Given the description of an element on the screen output the (x, y) to click on. 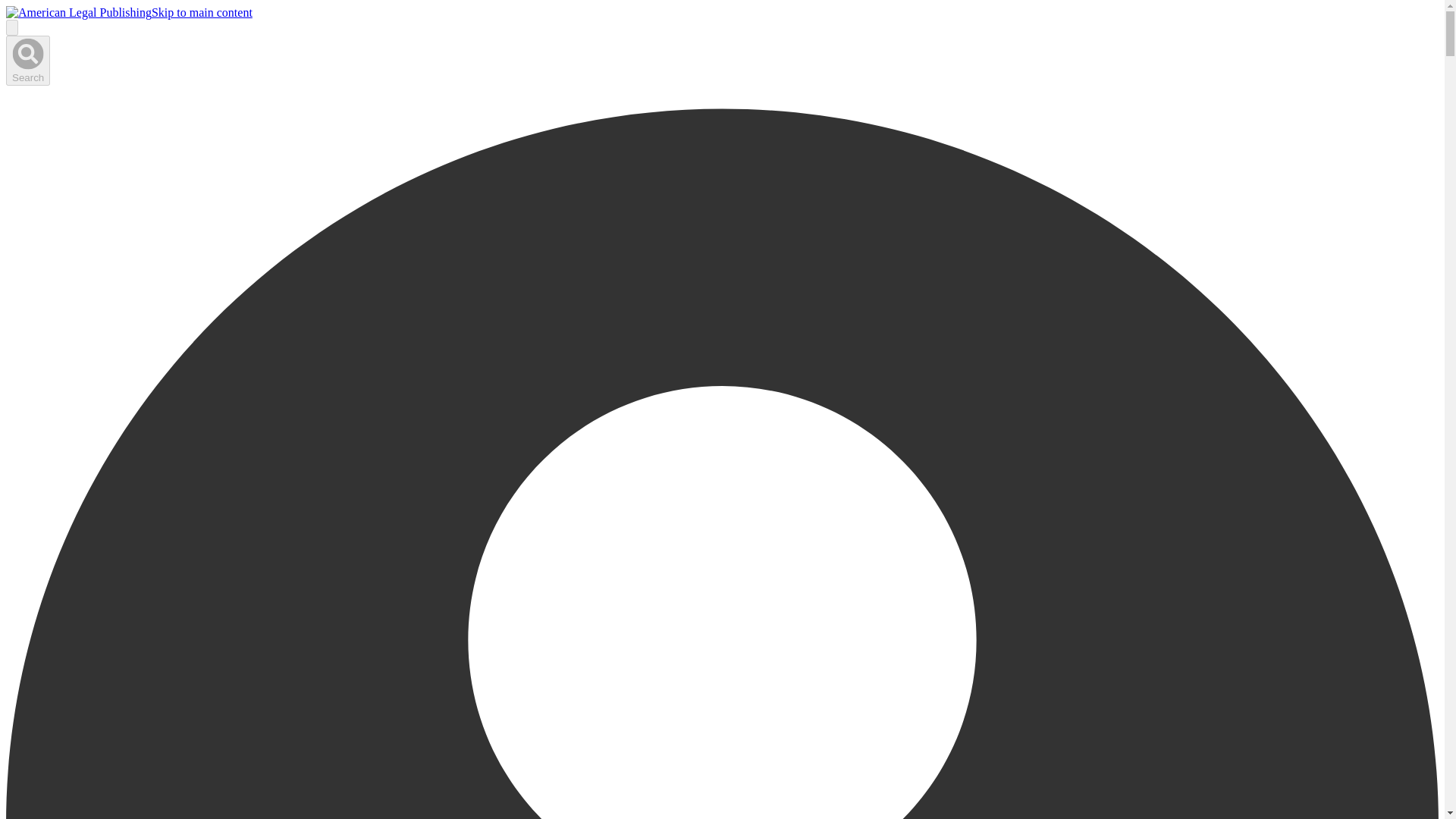
Skip to main content (201, 11)
